Given the description of an element on the screen output the (x, y) to click on. 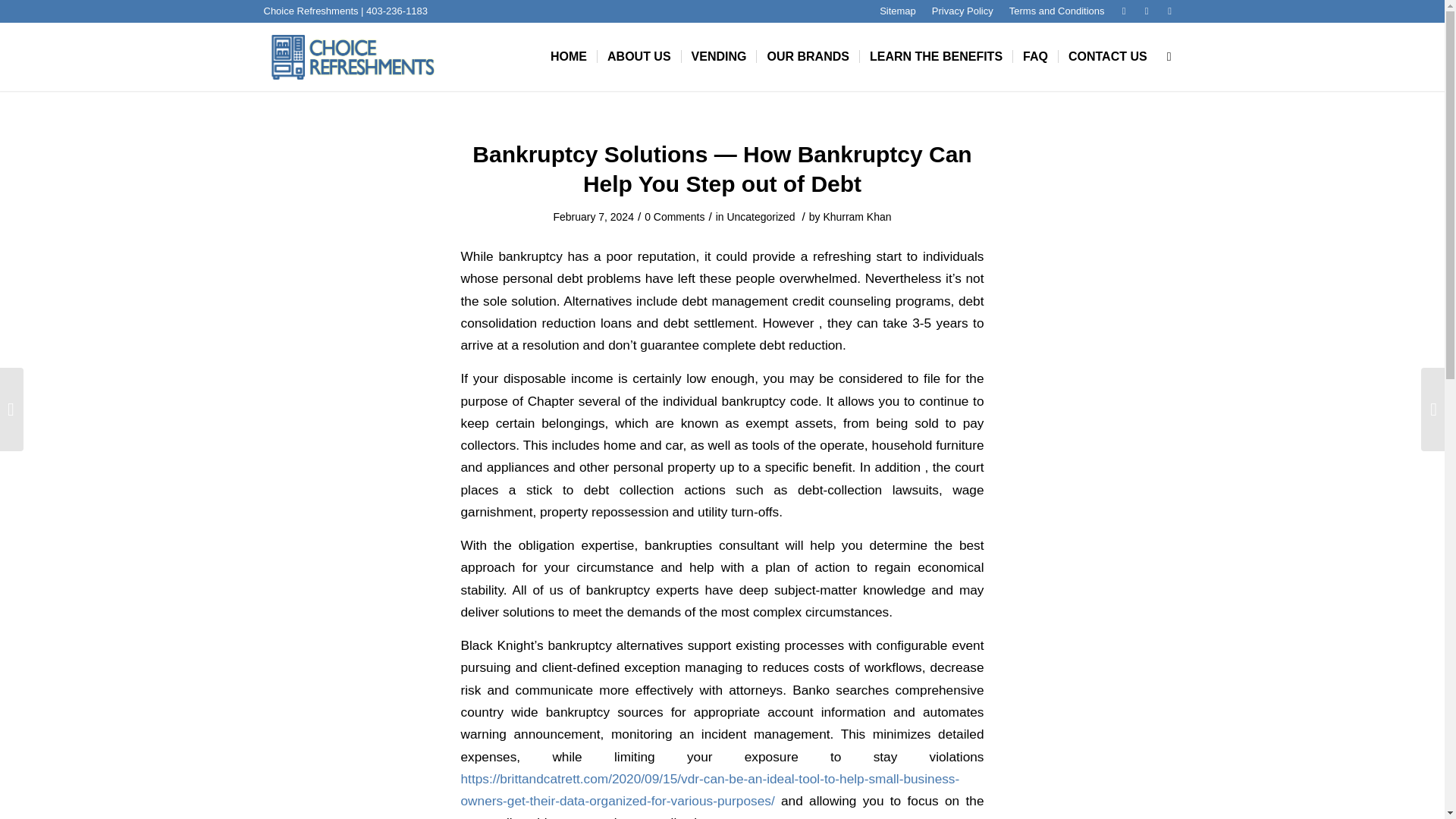
Facebook (1146, 11)
OUR BRANDS (807, 56)
Khurram Khan (856, 216)
VENDING (719, 56)
ABOUT US (638, 56)
Sitemap (897, 11)
Instagram (1169, 11)
0 Comments (674, 216)
CONTACT US (1107, 56)
LEARN THE BENEFITS (935, 56)
Terms and Conditions (1057, 11)
Posts by Khurram Khan (856, 216)
Privacy Policy (961, 11)
Twitter (1124, 11)
Uncategorized (760, 216)
